Given the description of an element on the screen output the (x, y) to click on. 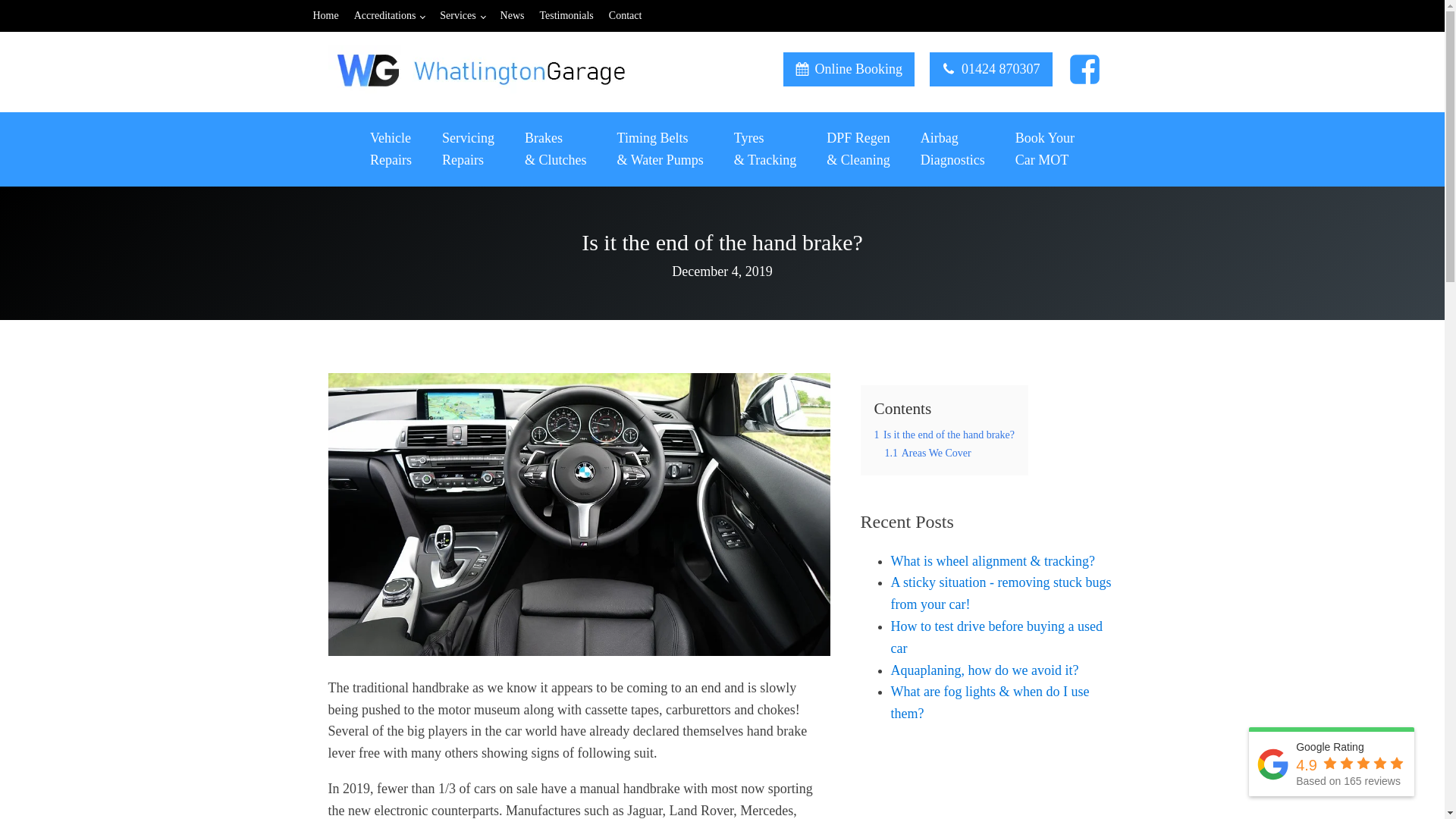
Home (1044, 149)
Contact (333, 15)
News (633, 15)
Services (467, 149)
Online Booking (520, 15)
1.1 Areas We Cover (469, 15)
How to test drive before buying a used car (848, 69)
01424 870307 (390, 149)
A sticky situation - removing stuck bugs from your car! (927, 452)
Aquaplaning, how do we avoid it? (995, 637)
1 Is it the end of the hand brake? (991, 69)
Accreditations (999, 592)
